Given the description of an element on the screen output the (x, y) to click on. 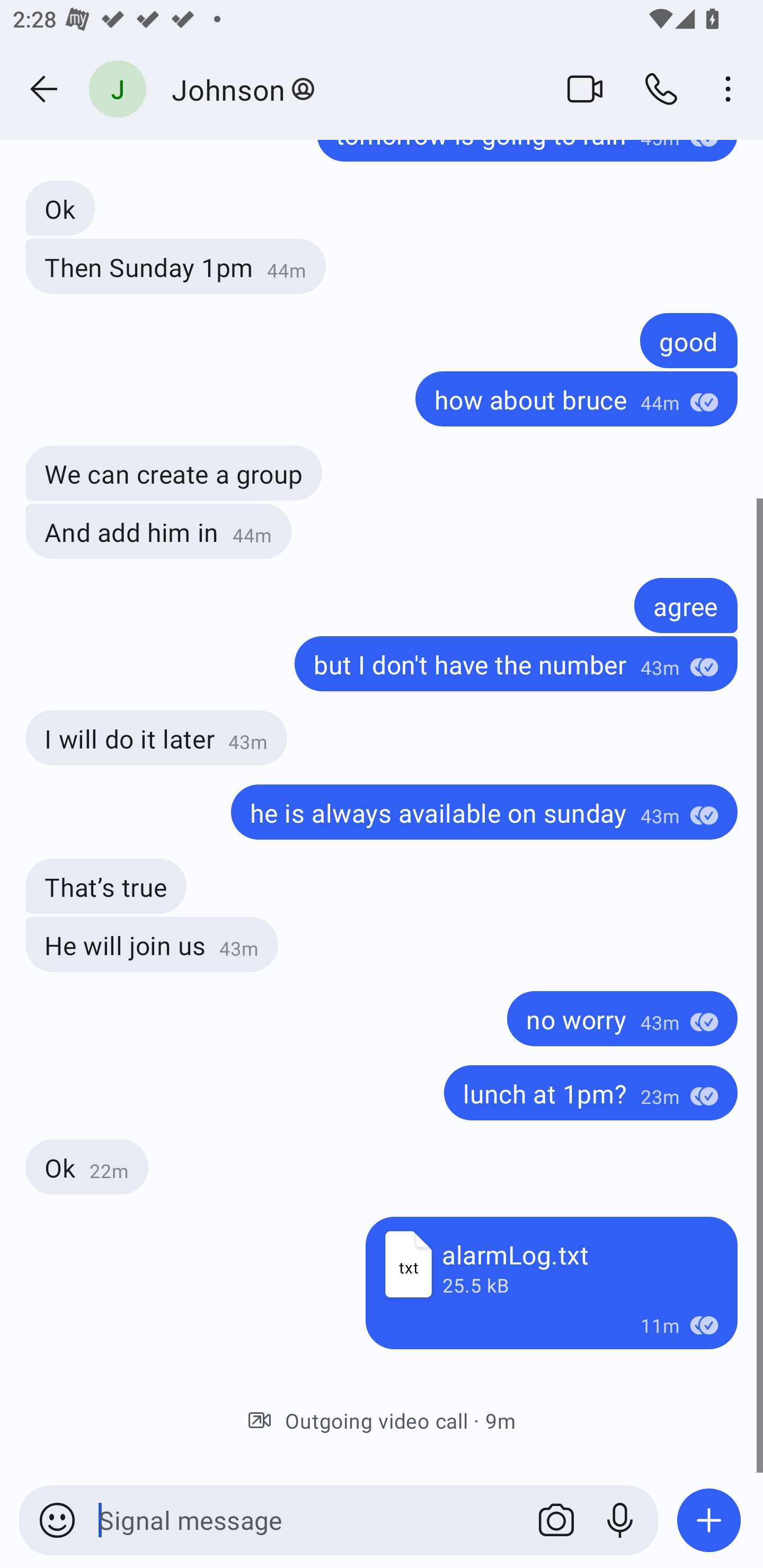
More options (731, 88)
